Given the description of an element on the screen output the (x, y) to click on. 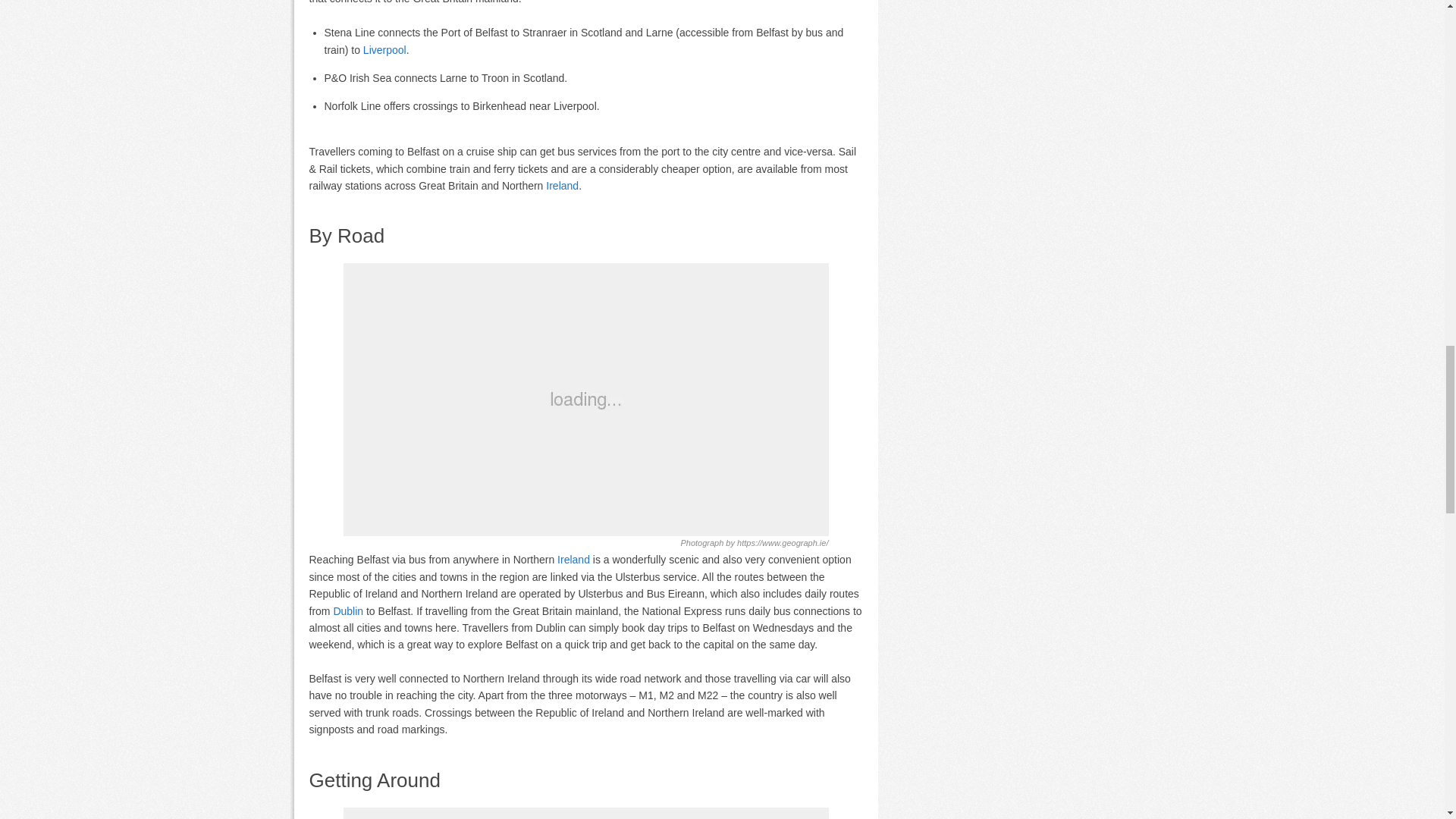
Dublin (347, 611)
Liverpool (384, 50)
Ireland (573, 559)
By Road:  How To Reach Belfast (585, 399)
Ireland (562, 185)
Getting Around:  How To Reach Belfast (585, 813)
